Given the description of an element on the screen output the (x, y) to click on. 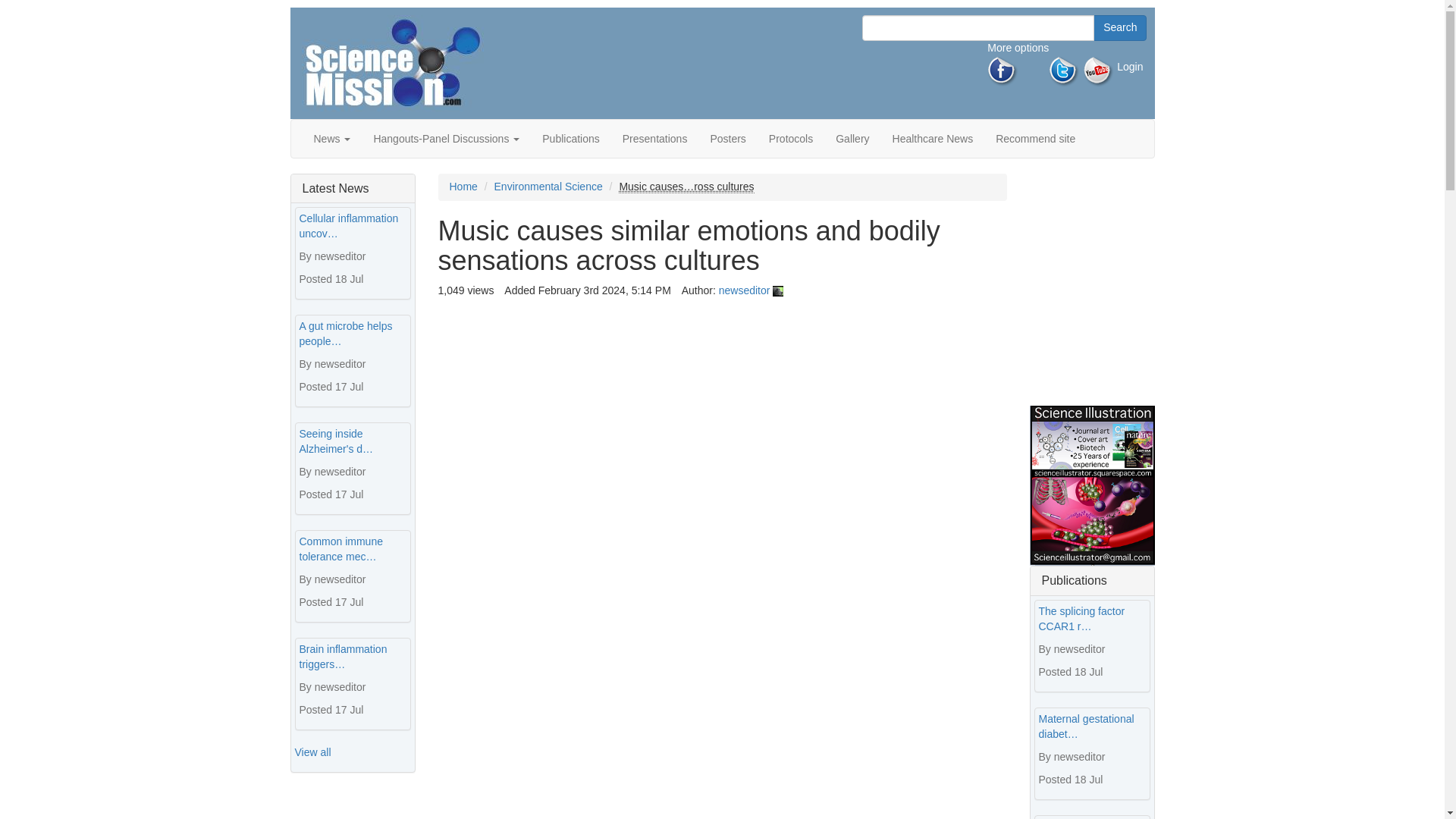
Login (1129, 66)
Search (1119, 27)
Environmental Science (548, 186)
Gallery (852, 138)
Protocols (790, 138)
News (331, 138)
Presentations (654, 138)
Front page (392, 63)
Go upwards to Environmental Science (548, 186)
Home (462, 186)
newseditor (744, 290)
Posters (727, 138)
Author: newseditor (744, 290)
